Given the description of an element on the screen output the (x, y) to click on. 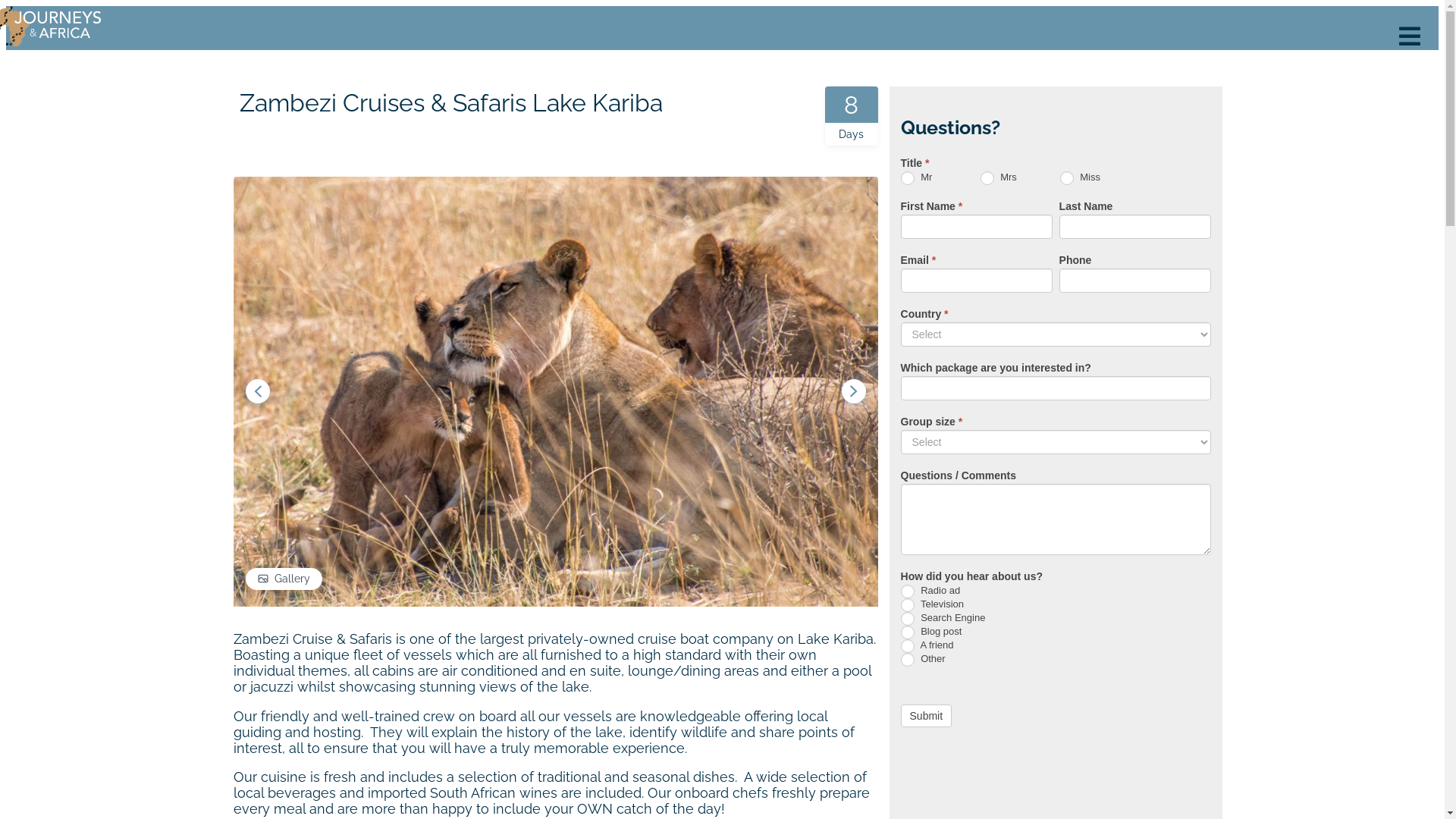
Gallery Element type: text (283, 578)
Submit Element type: text (926, 715)
